Given the description of an element on the screen output the (x, y) to click on. 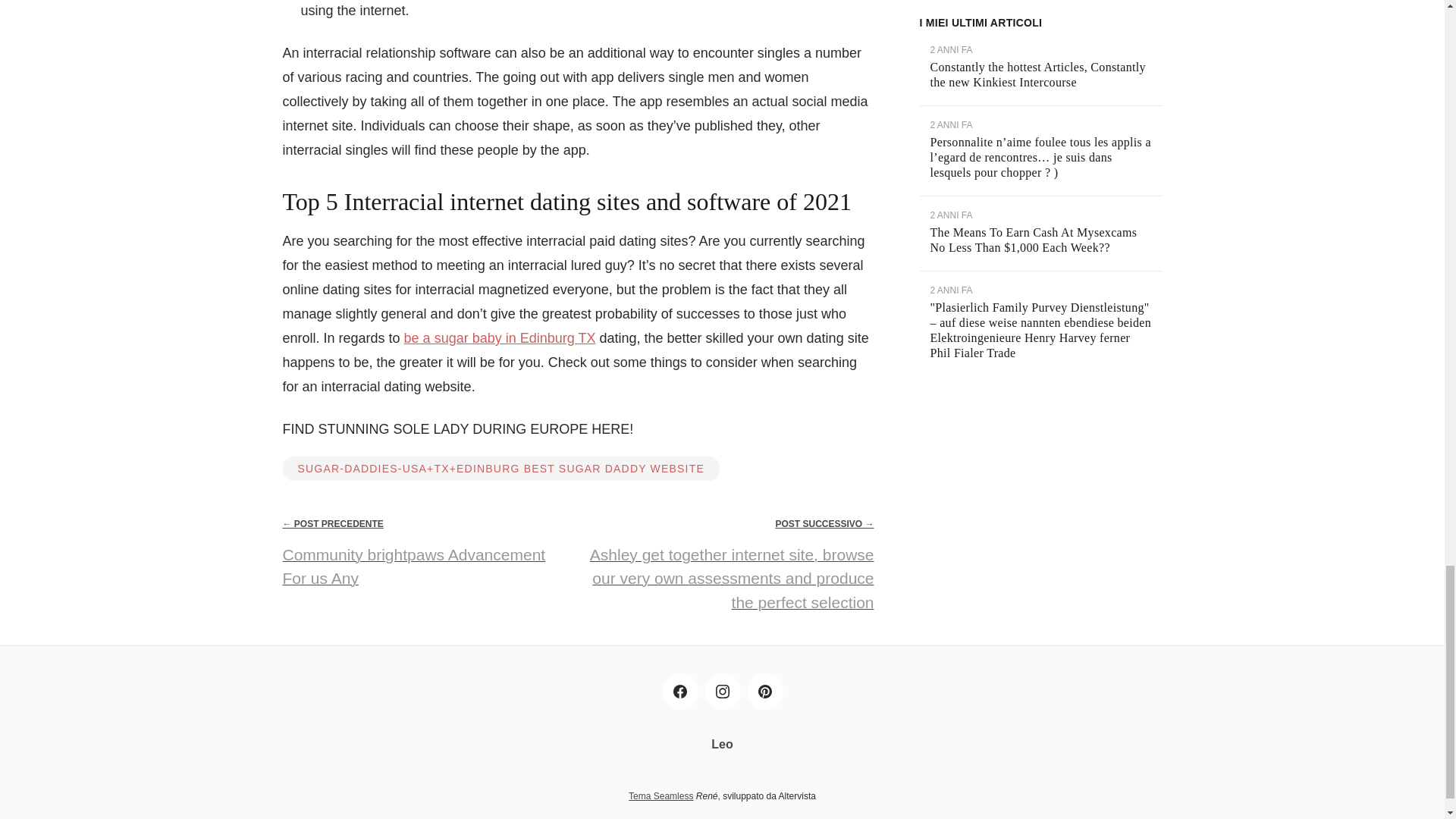
Leo (721, 744)
Pinterest (764, 691)
Tema Seamless (660, 795)
Facebook (679, 691)
Instagram (721, 691)
be a sugar baby in Edinburg TX (499, 337)
